Given the description of an element on the screen output the (x, y) to click on. 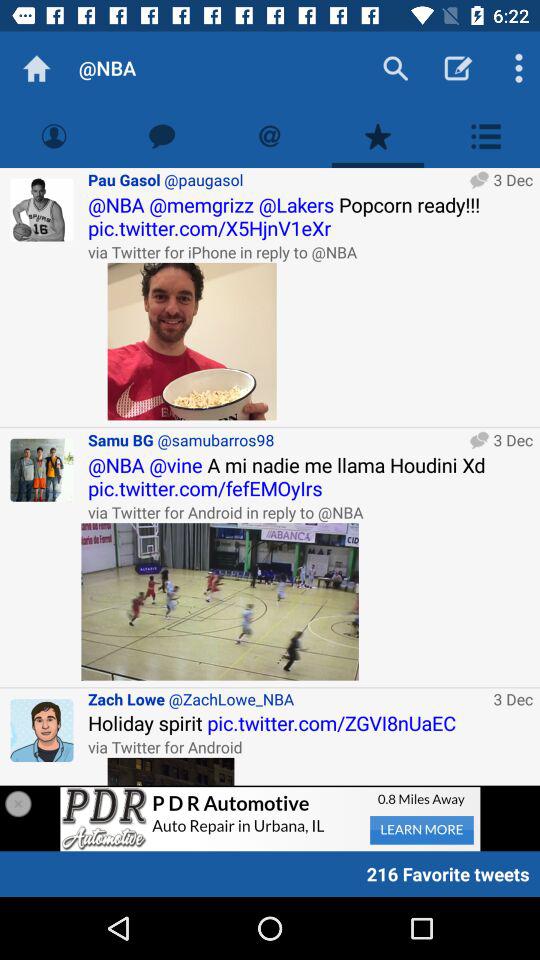
menu (486, 136)
